Given the description of an element on the screen output the (x, y) to click on. 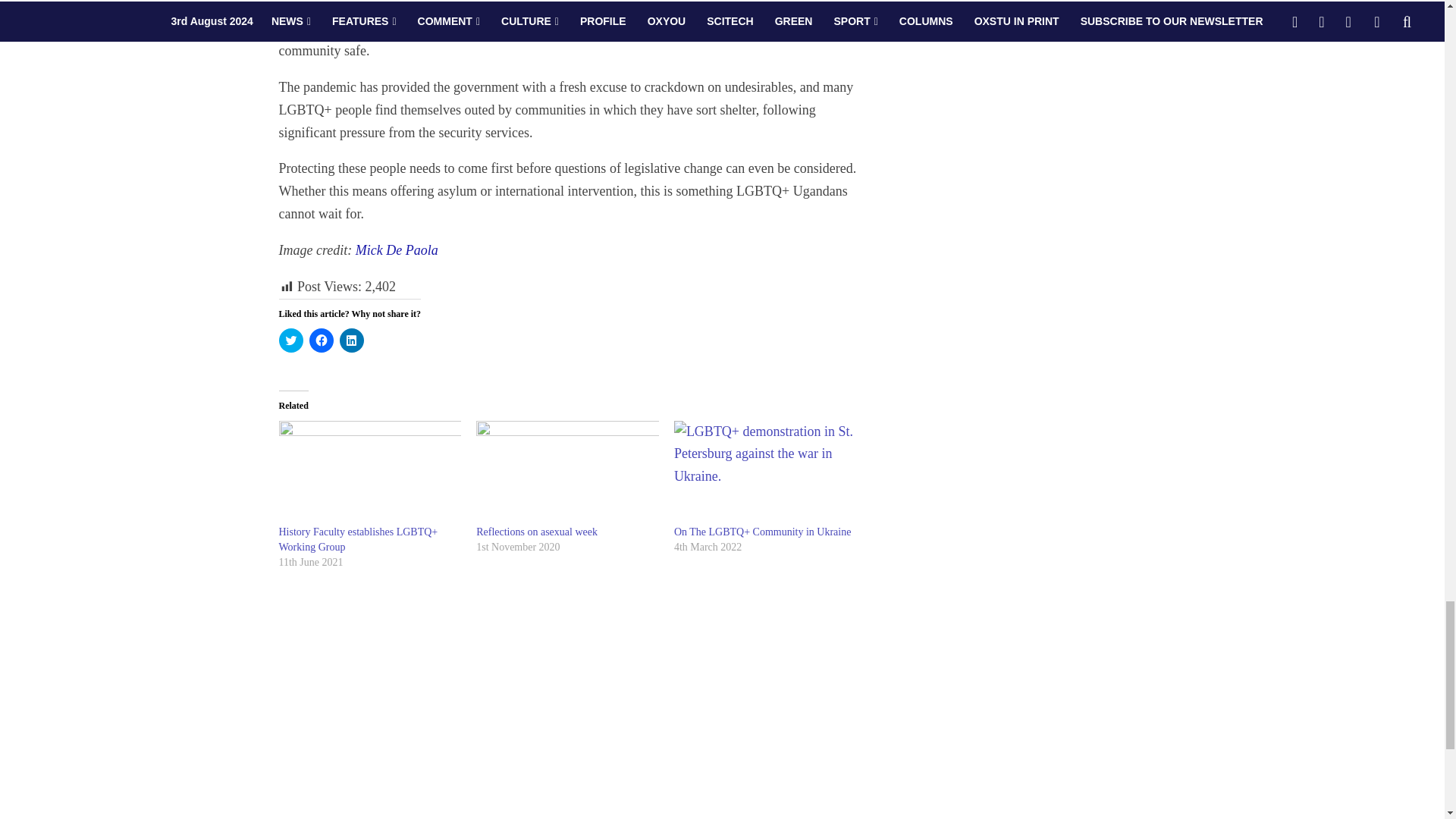
Click to share on Twitter (290, 340)
Reflections on asexual week (567, 472)
Reflections on asexual week (536, 531)
Click to share on LinkedIn (351, 340)
Click to share on Facebook (320, 340)
